Given the description of an element on the screen output the (x, y) to click on. 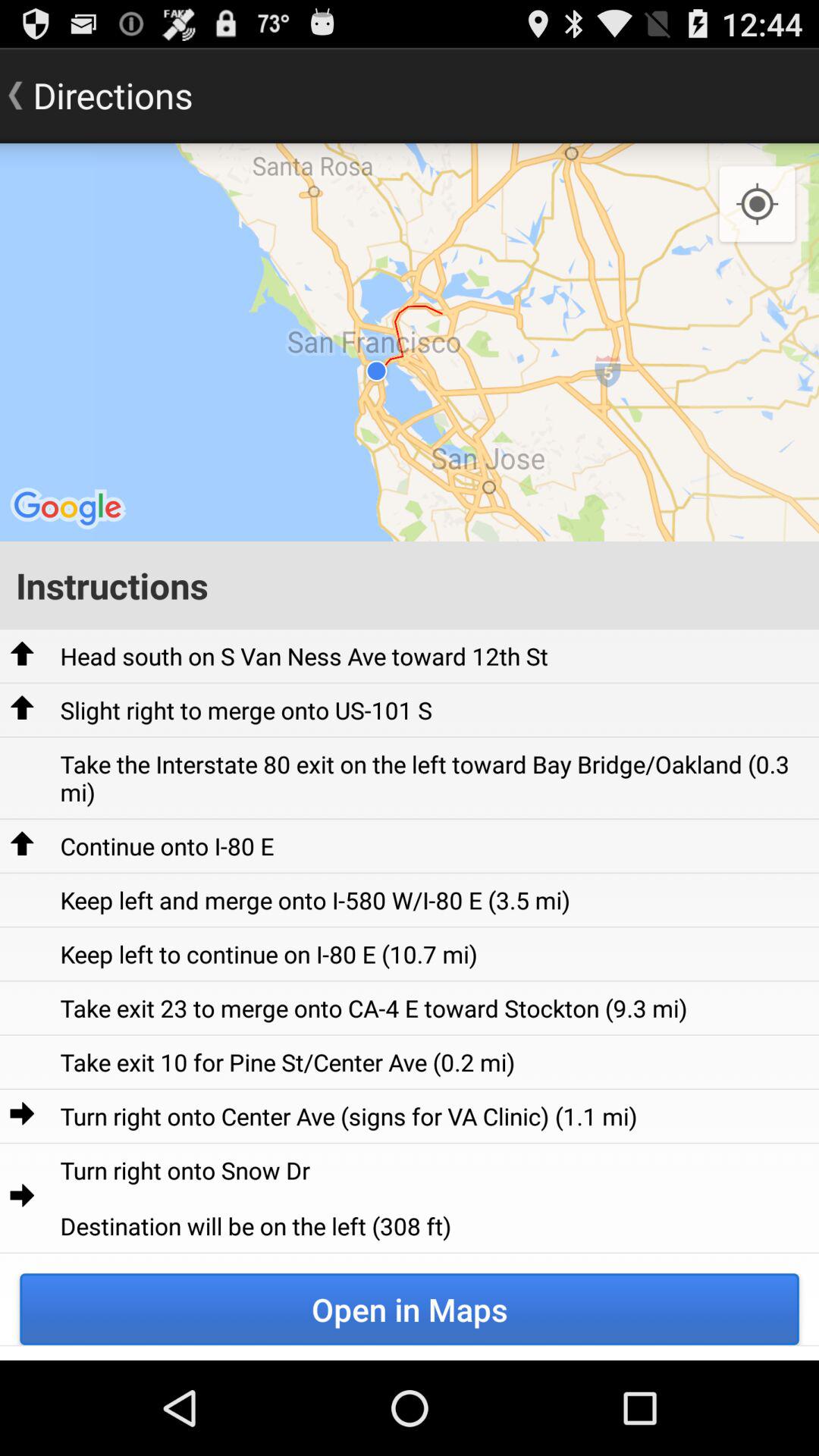
turn on item below slight right to app (434, 777)
